Given the description of an element on the screen output the (x, y) to click on. 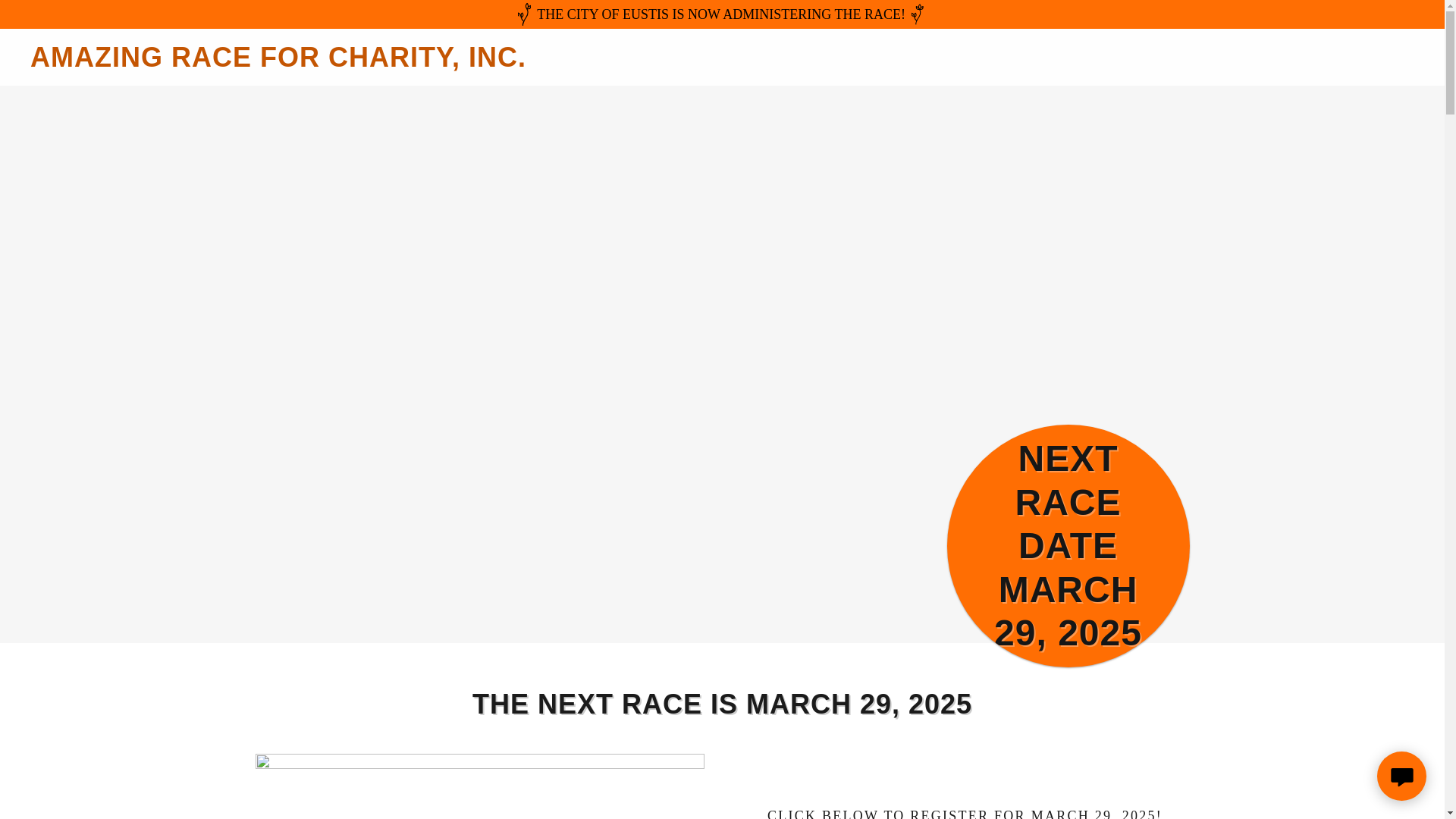
Amazing Race for Charity, Inc. (376, 61)
AMAZING RACE FOR CHARITY, INC. (376, 61)
